Given the description of an element on the screen output the (x, y) to click on. 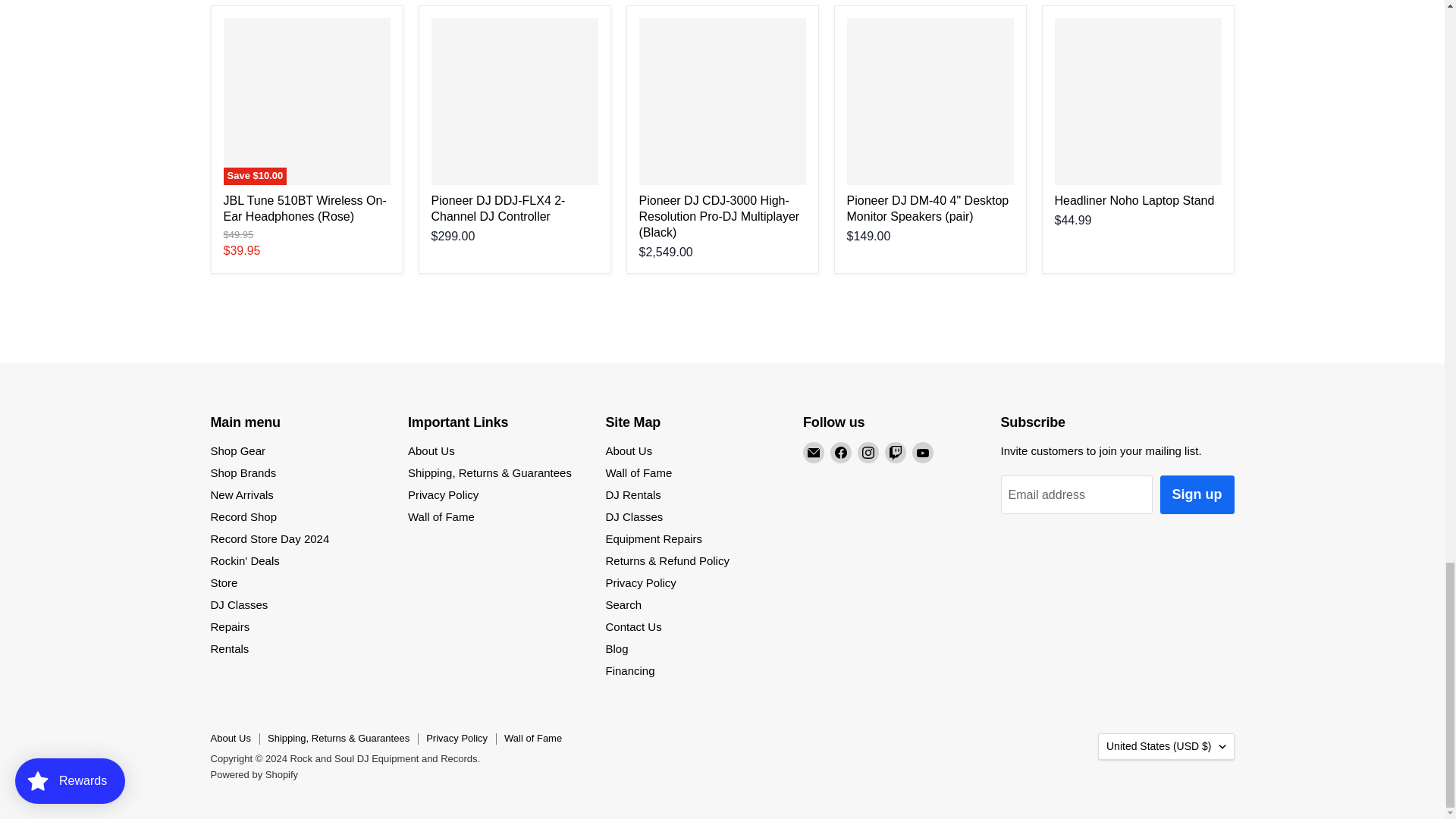
Email (813, 452)
Facebook (840, 452)
YouTube (922, 452)
Instagram (868, 452)
Twitch (895, 452)
